Given the description of an element on the screen output the (x, y) to click on. 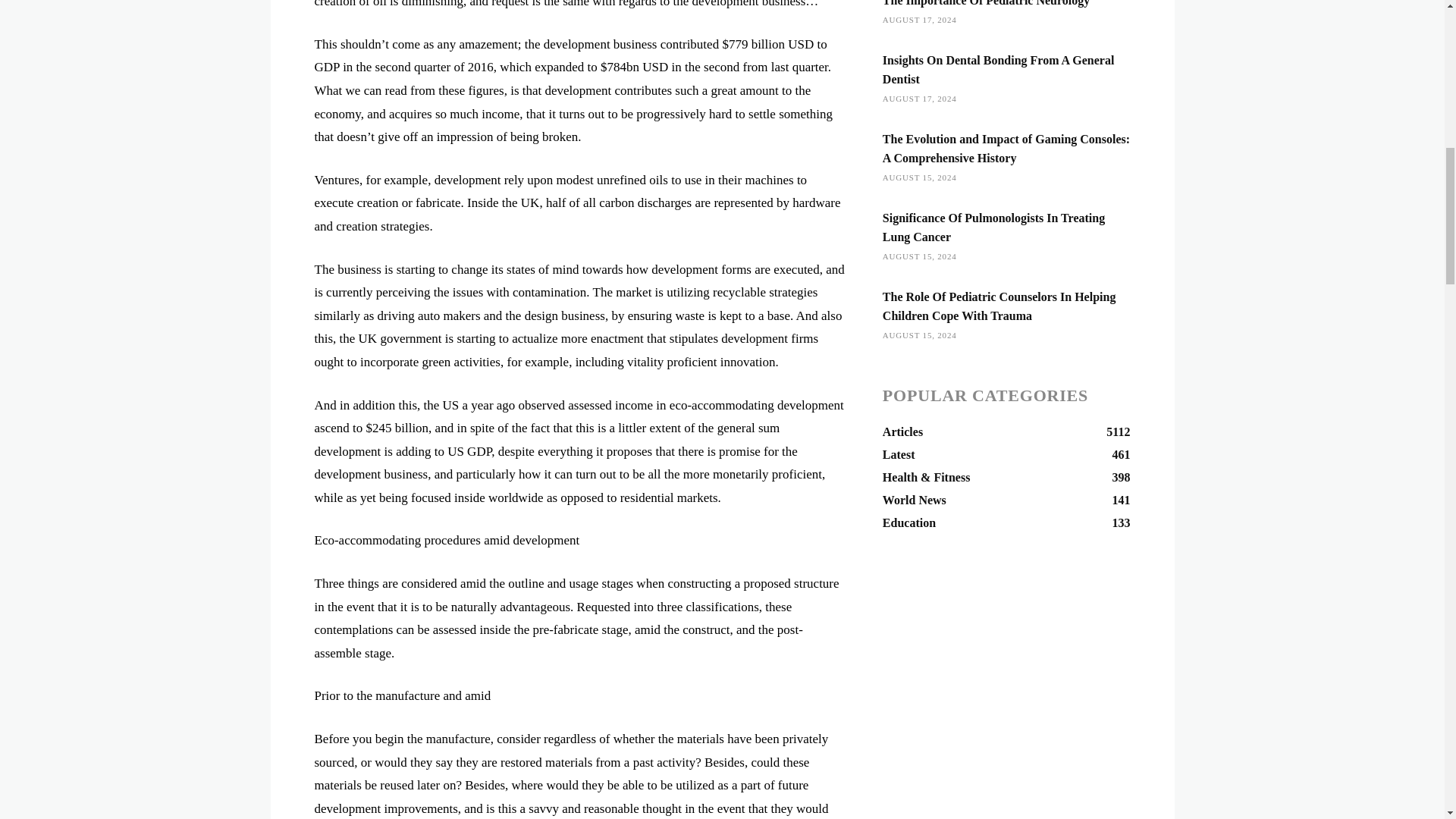
Insights On Dental Bonding From A General Dentist (998, 69)
The Importance Of Pediatric Neurology (985, 3)
Insights On Dental Bonding From A General Dentist (998, 69)
The Importance Of Pediatric Neurology (1006, 431)
